Given the description of an element on the screen output the (x, y) to click on. 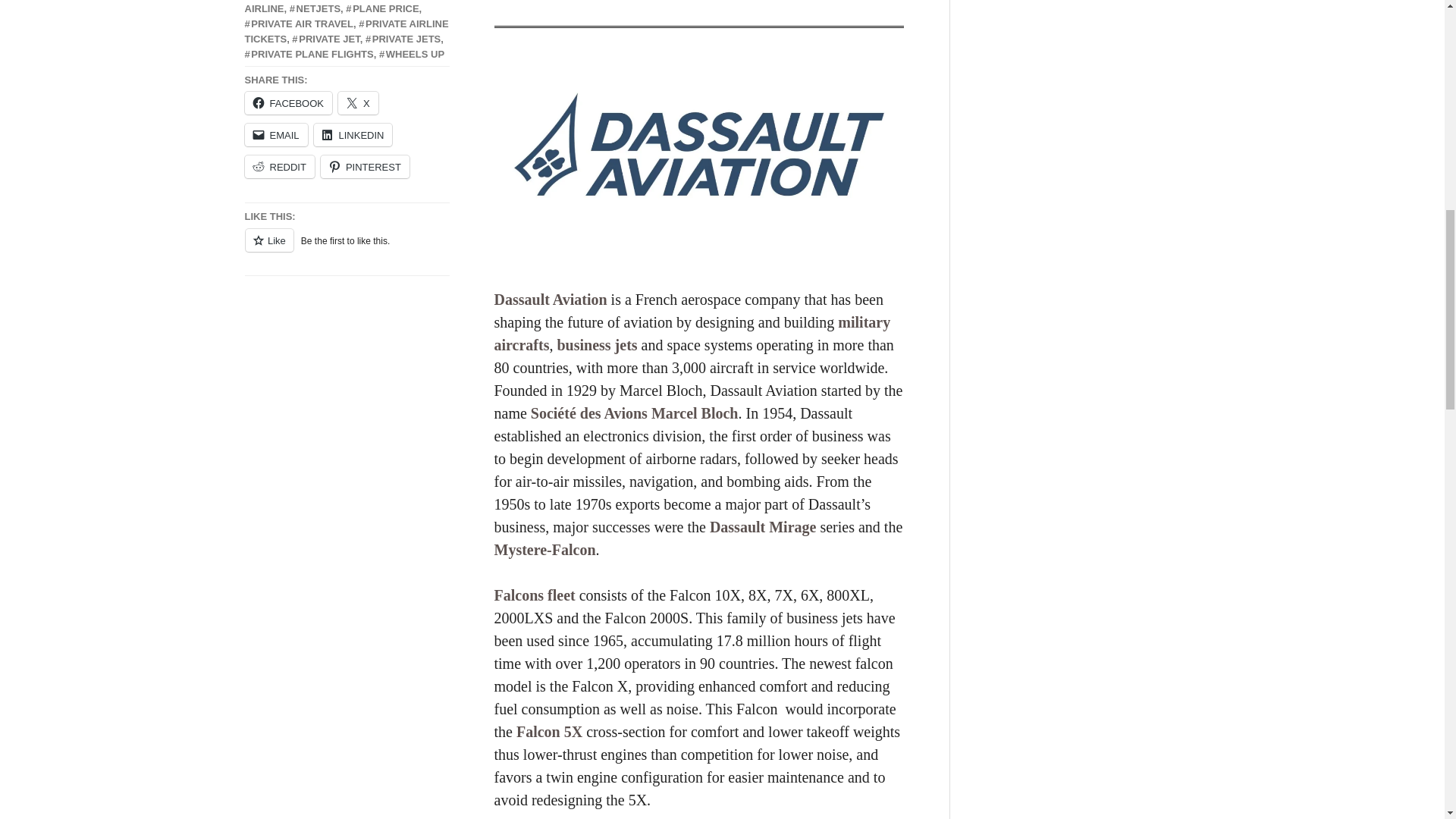
Like or Reblog (346, 249)
Click to share on Reddit (279, 166)
Click to share on Pinterest (364, 166)
Click to share on LinkedIn (353, 134)
Click to email a link to a friend (275, 134)
Click to share on X (357, 102)
Click to share on Facebook (287, 102)
